Given the description of an element on the screen output the (x, y) to click on. 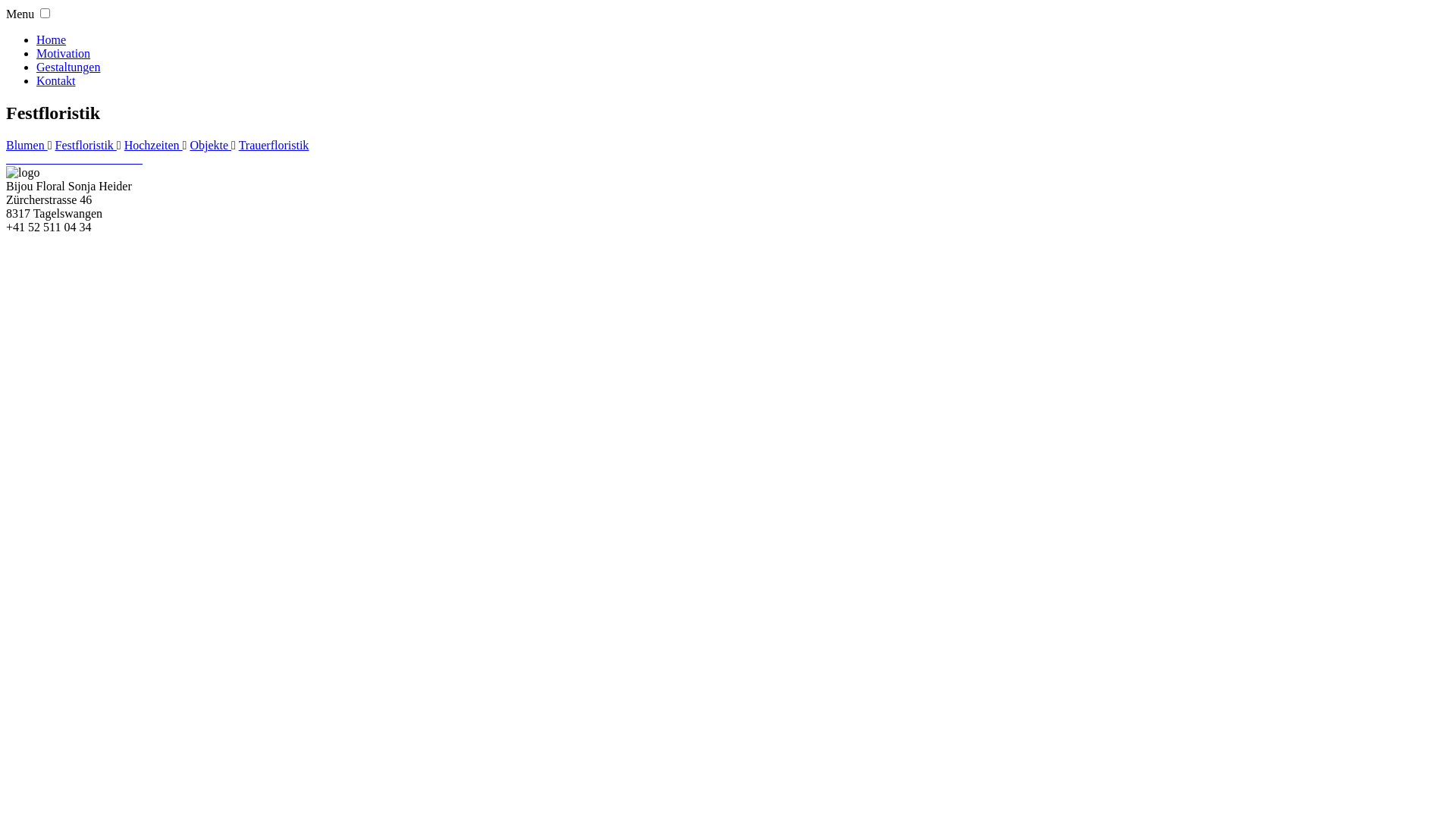
Trauerfloristik Element type: text (273, 144)
Festfloristik Element type: text (85, 144)
Kontakt Element type: text (55, 80)
Blumen Element type: text (26, 144)
Motivation Element type: text (63, 53)
Objekte Element type: text (210, 144)
Hochzeiten Element type: text (153, 144)
Home Element type: text (50, 39)
Gestaltungen Element type: text (68, 66)
